Given the description of an element on the screen output the (x, y) to click on. 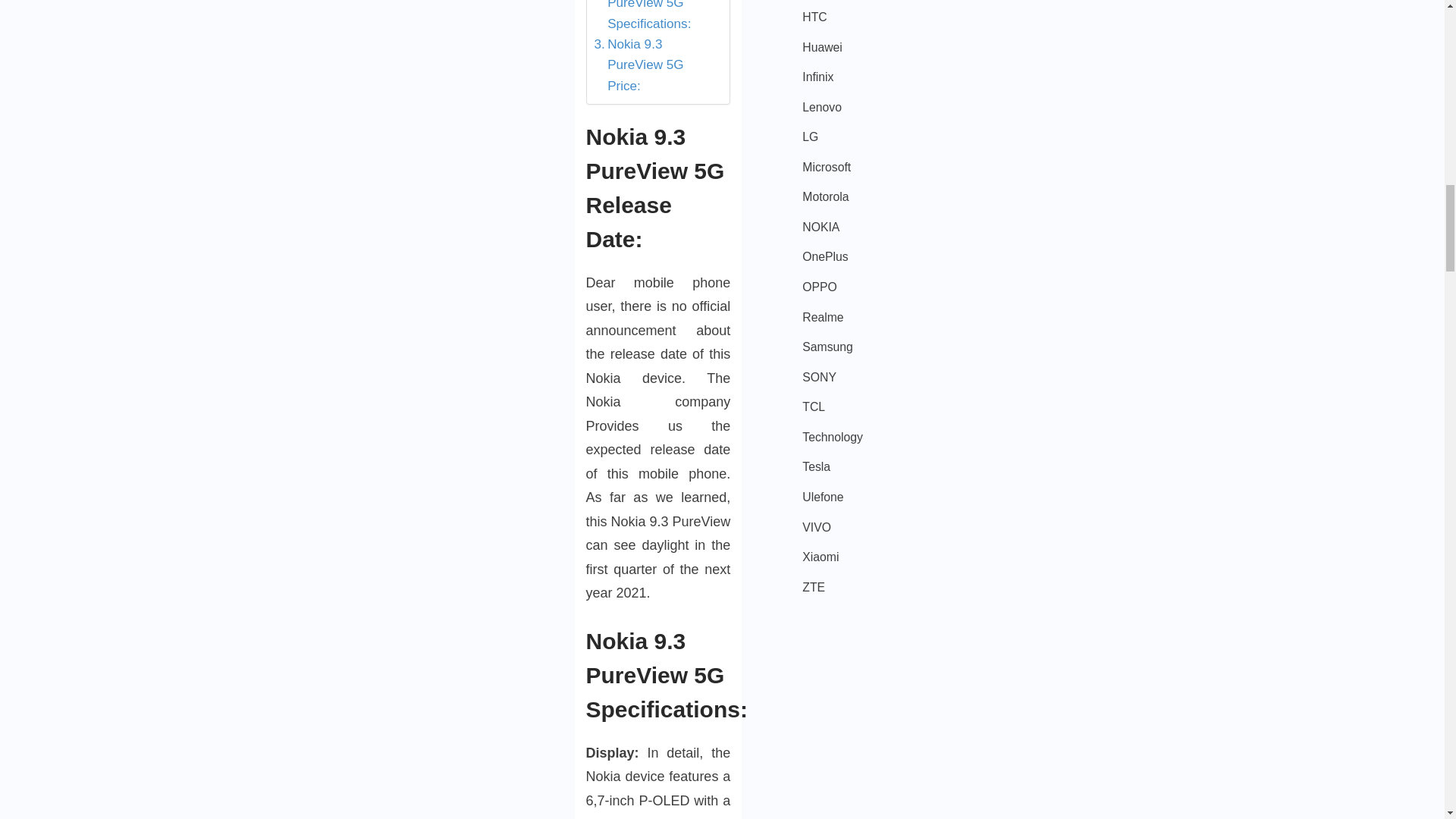
Nokia 9.3 PureView 5G Price: (654, 65)
Nokia 9.3 PureView 5G Specifications: (654, 17)
Nokia 9.3 PureView 5G Specifications: (654, 17)
Nokia 9.3 PureView 5G Price: (654, 65)
